Given the description of an element on the screen output the (x, y) to click on. 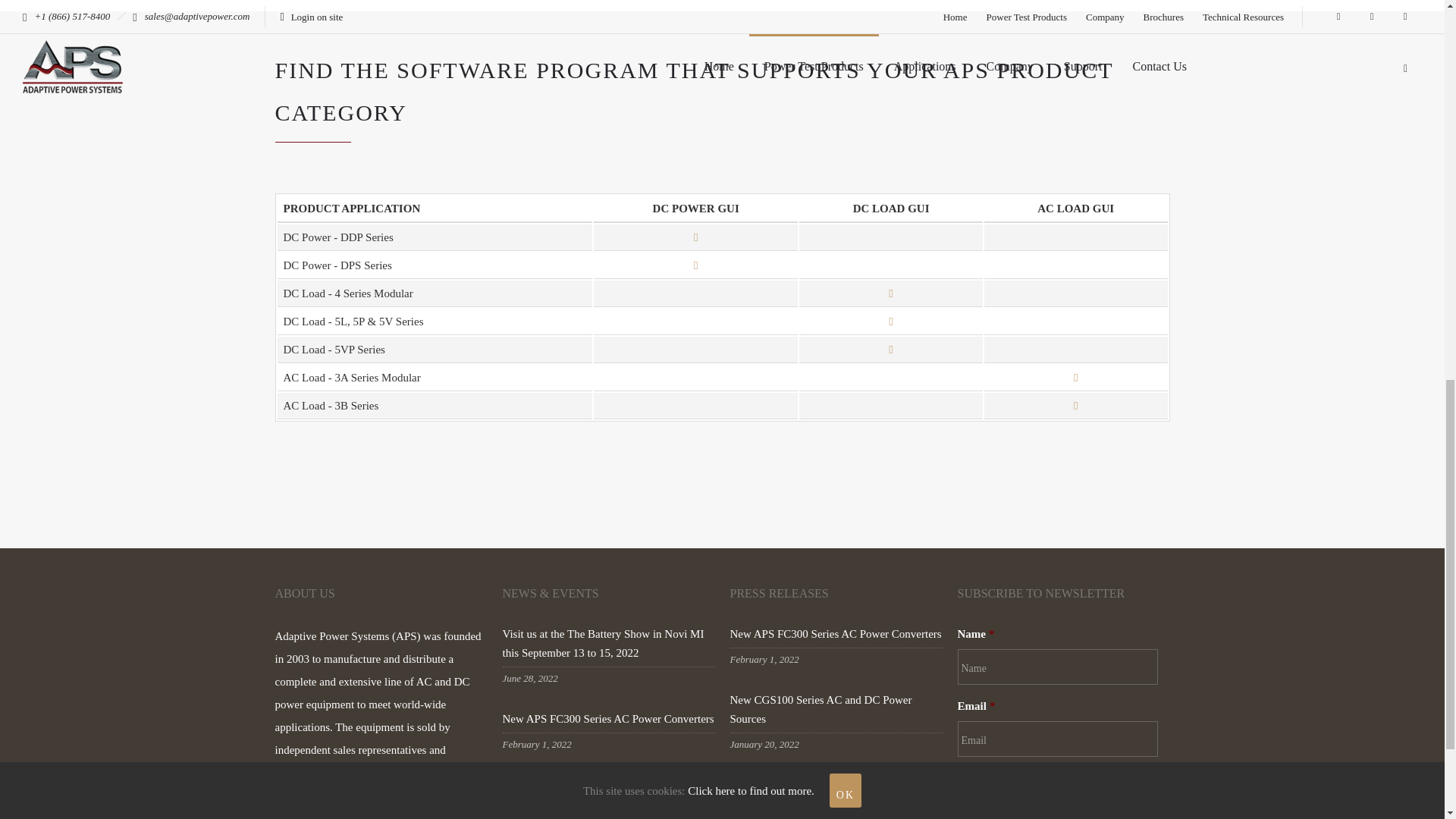
Permalink to New APS FC300 Series AC Power Converters (834, 636)
Permalink to New APS FC300 Series AC Power Converters (607, 721)
Submit (1013, 797)
Permalink to New CGS100 Series AC and DC Power Sources (820, 711)
